Given the description of an element on the screen output the (x, y) to click on. 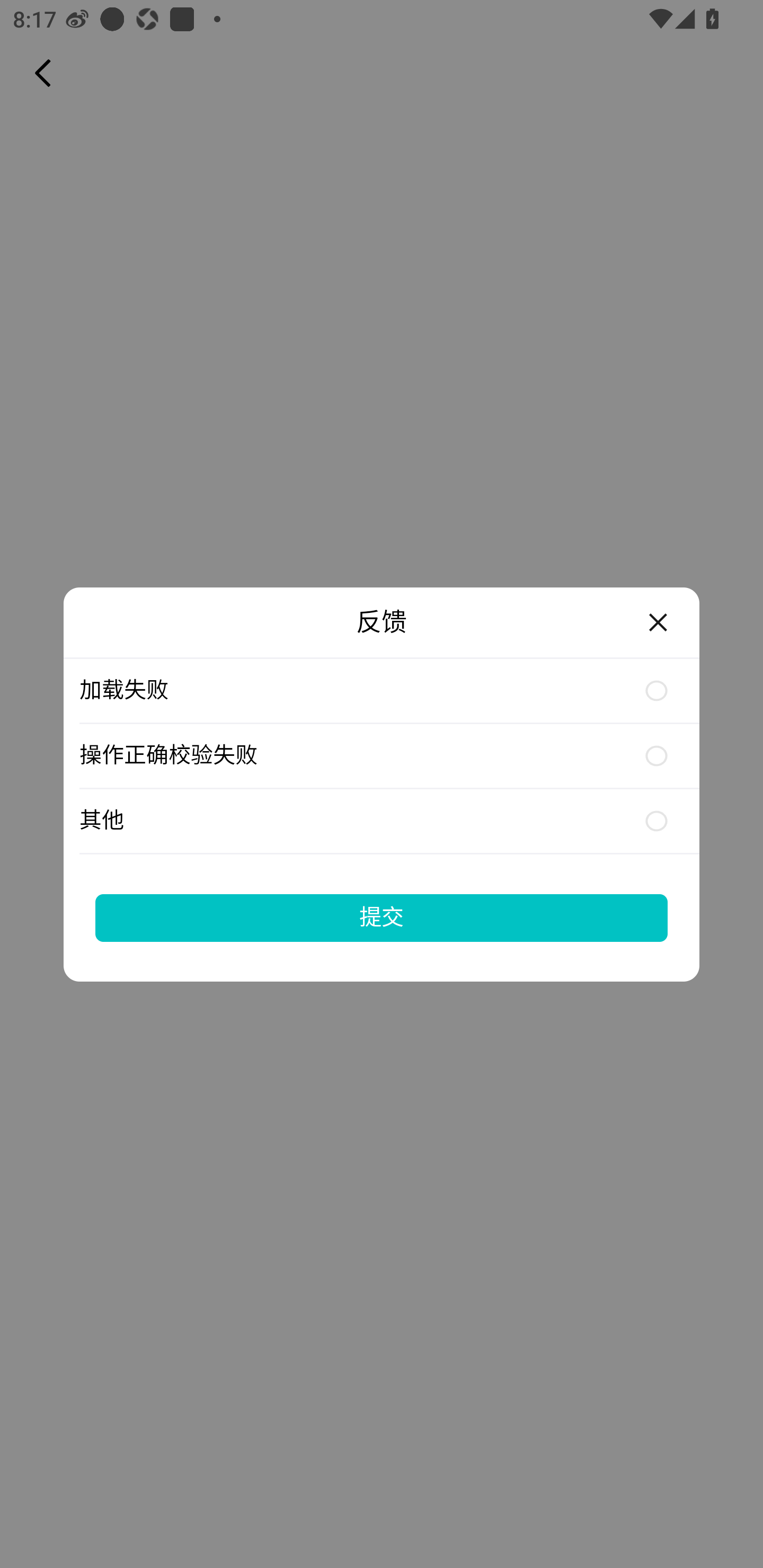
提交 (381, 917)
